Given the description of an element on the screen output the (x, y) to click on. 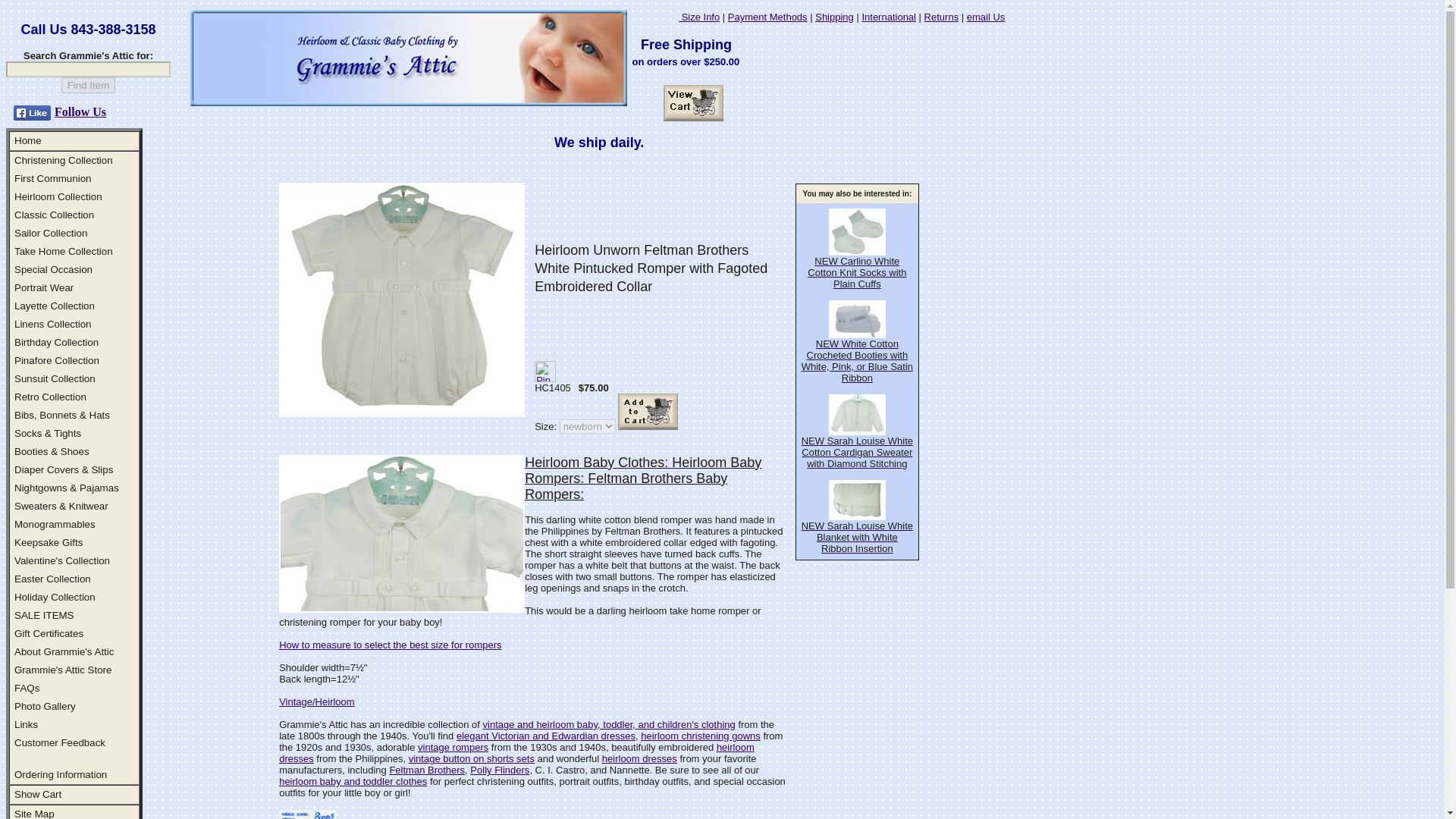
Sunsuit Collection (55, 378)
Take Home Collection (63, 251)
SALE ITEMS (44, 614)
Retro Collection (49, 396)
Home (28, 140)
Find Item (88, 84)
Find Item (88, 84)
Gift Certificates (48, 633)
Ordering Information (60, 774)
Linens Collection (52, 324)
